Given the description of an element on the screen output the (x, y) to click on. 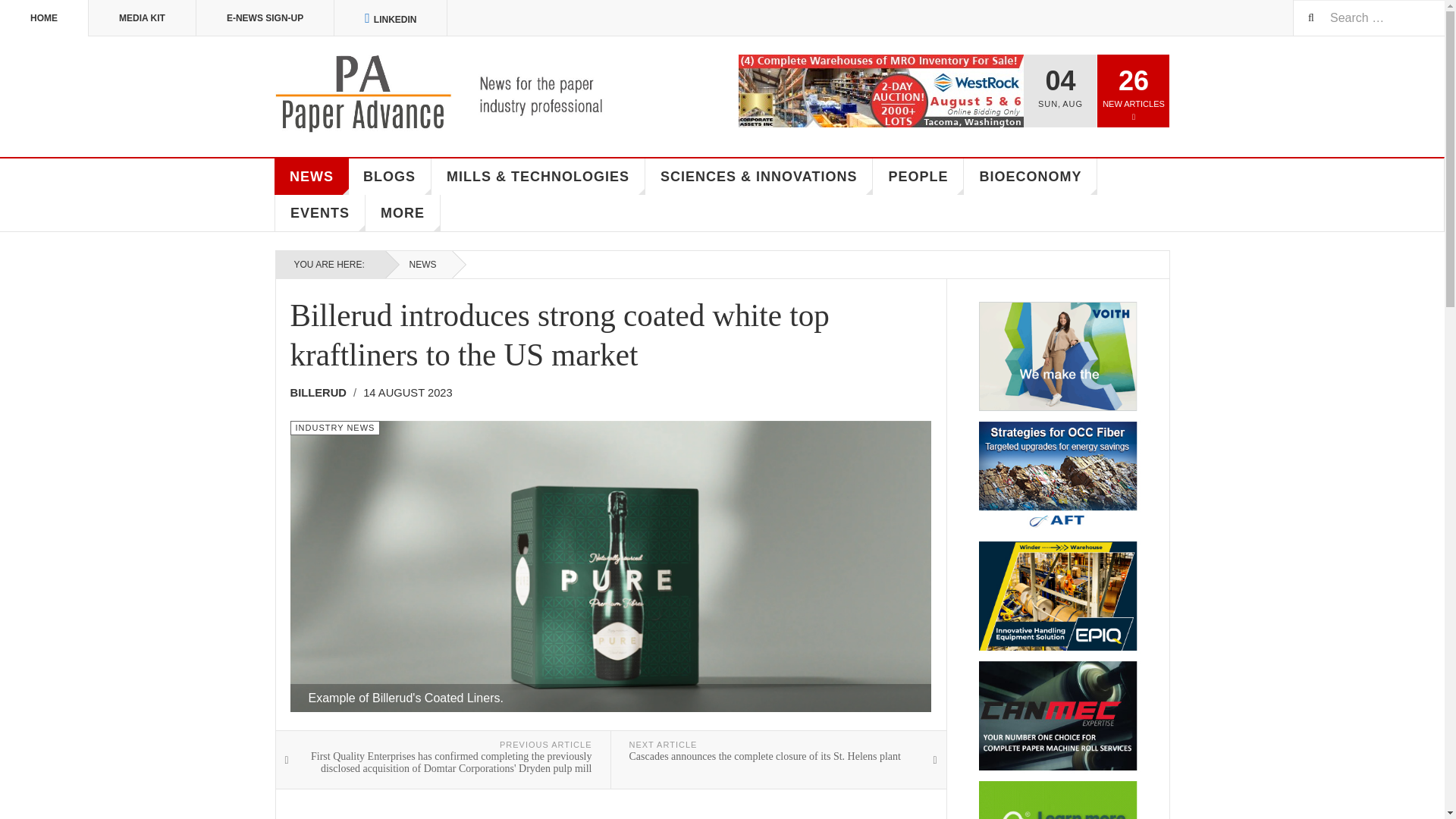
E-NEWS SIGN-UP (265, 18)
HOME (44, 18)
NEWS (312, 176)
Paper Advance (461, 93)
MEDIA KIT (142, 18)
LINKEDIN (390, 18)
